Given the description of an element on the screen output the (x, y) to click on. 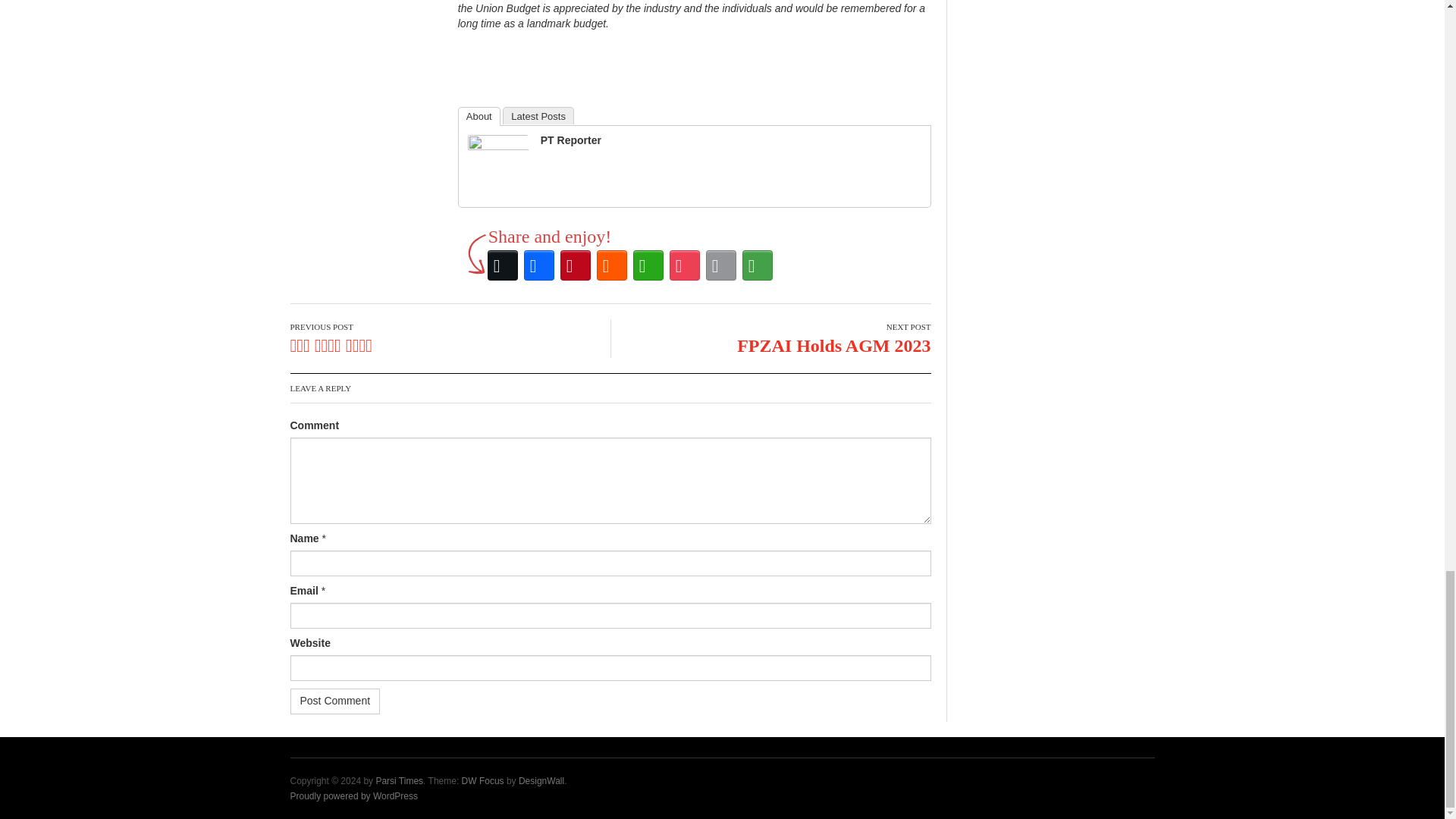
WhatsApp (648, 265)
PT Reporter (497, 164)
Reddit (612, 265)
Post Comment (334, 701)
Facebook (539, 265)
Pinterest (575, 265)
WordPress News Theme (482, 780)
Email This (721, 265)
Pocket (684, 265)
More Options (757, 265)
